Given the description of an element on the screen output the (x, y) to click on. 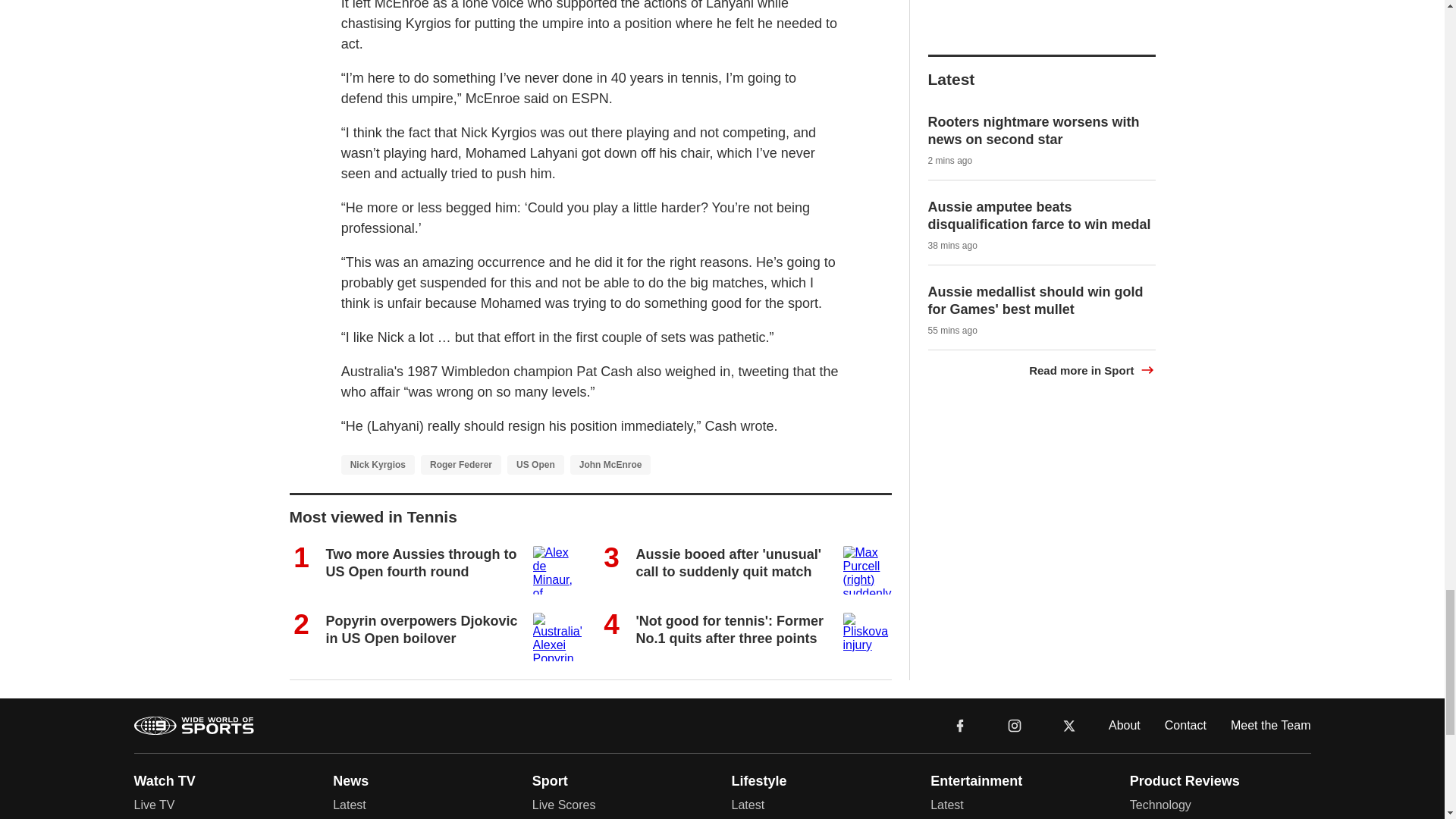
facebook (959, 724)
x (1069, 725)
Nick Kyrgios (377, 465)
US Open (535, 465)
x (1069, 724)
Popyrin overpowers Djokovic in US Open boilover (422, 629)
'Not good for tennis': Former No.1 quits after three points (729, 629)
Aussie booed after 'unusual' call to suddenly quit match (727, 563)
instagram (1013, 724)
facebook (960, 725)
